Given the description of an element on the screen output the (x, y) to click on. 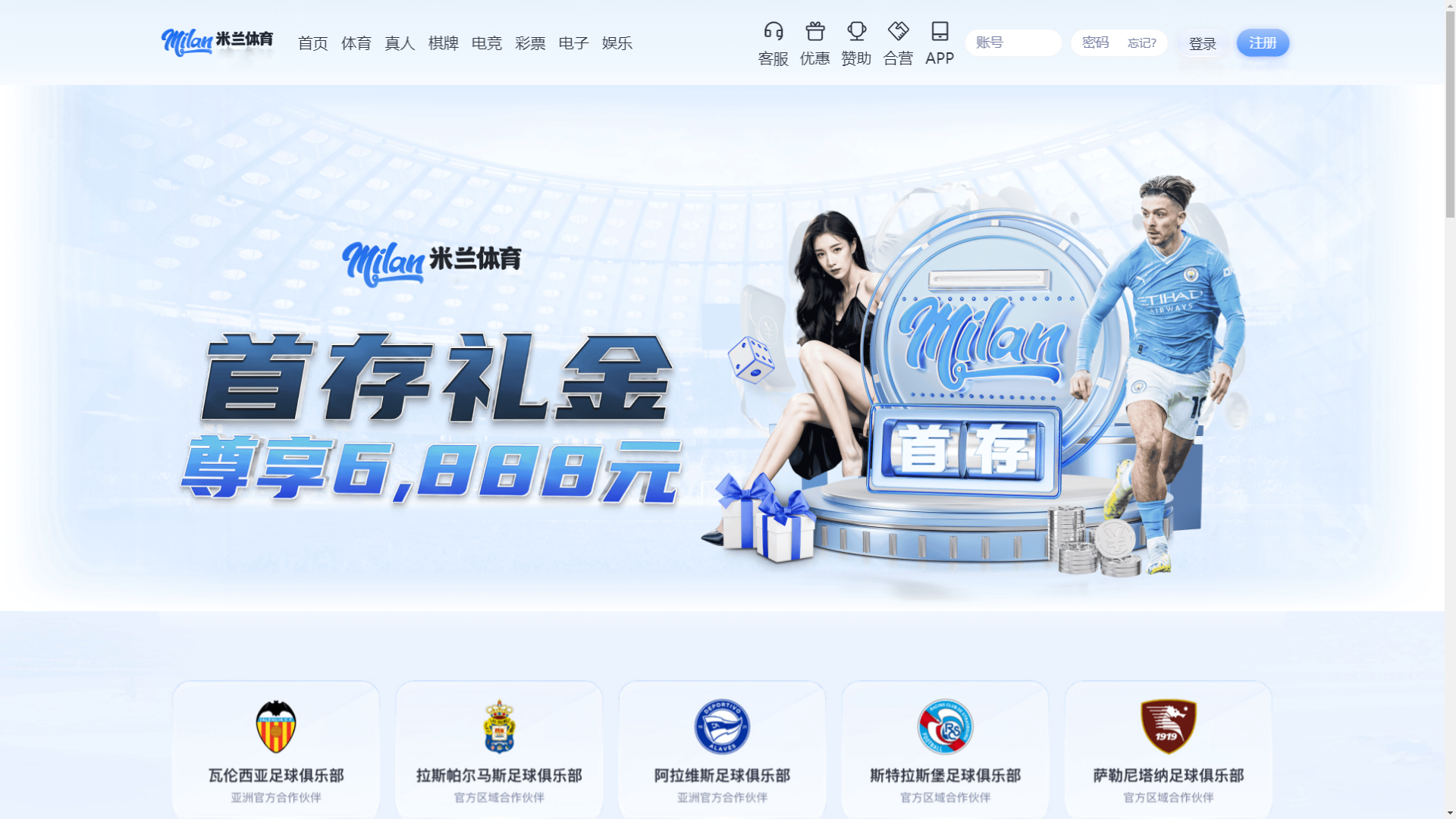
Schedule Demo (1020, 30)
Solutions (1214, 31)
